Given the description of an element on the screen output the (x, y) to click on. 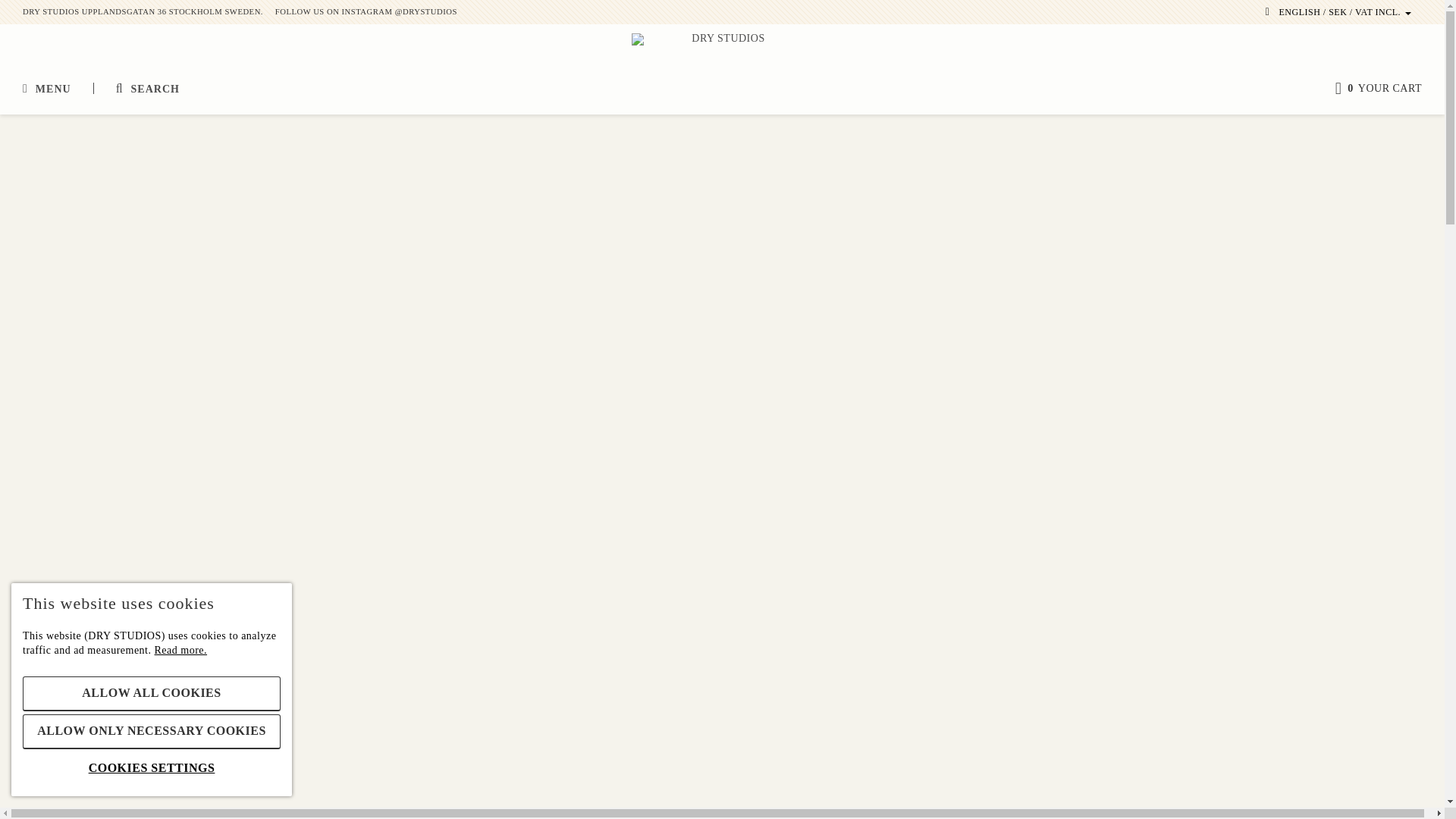
SEARCH (147, 88)
MENU (47, 88)
COOKIES SETTINGS (152, 768)
ALLOW ONLY NECESSARY COOKIES (152, 731)
ALLOW ALL COOKIES (152, 693)
